Given the description of an element on the screen output the (x, y) to click on. 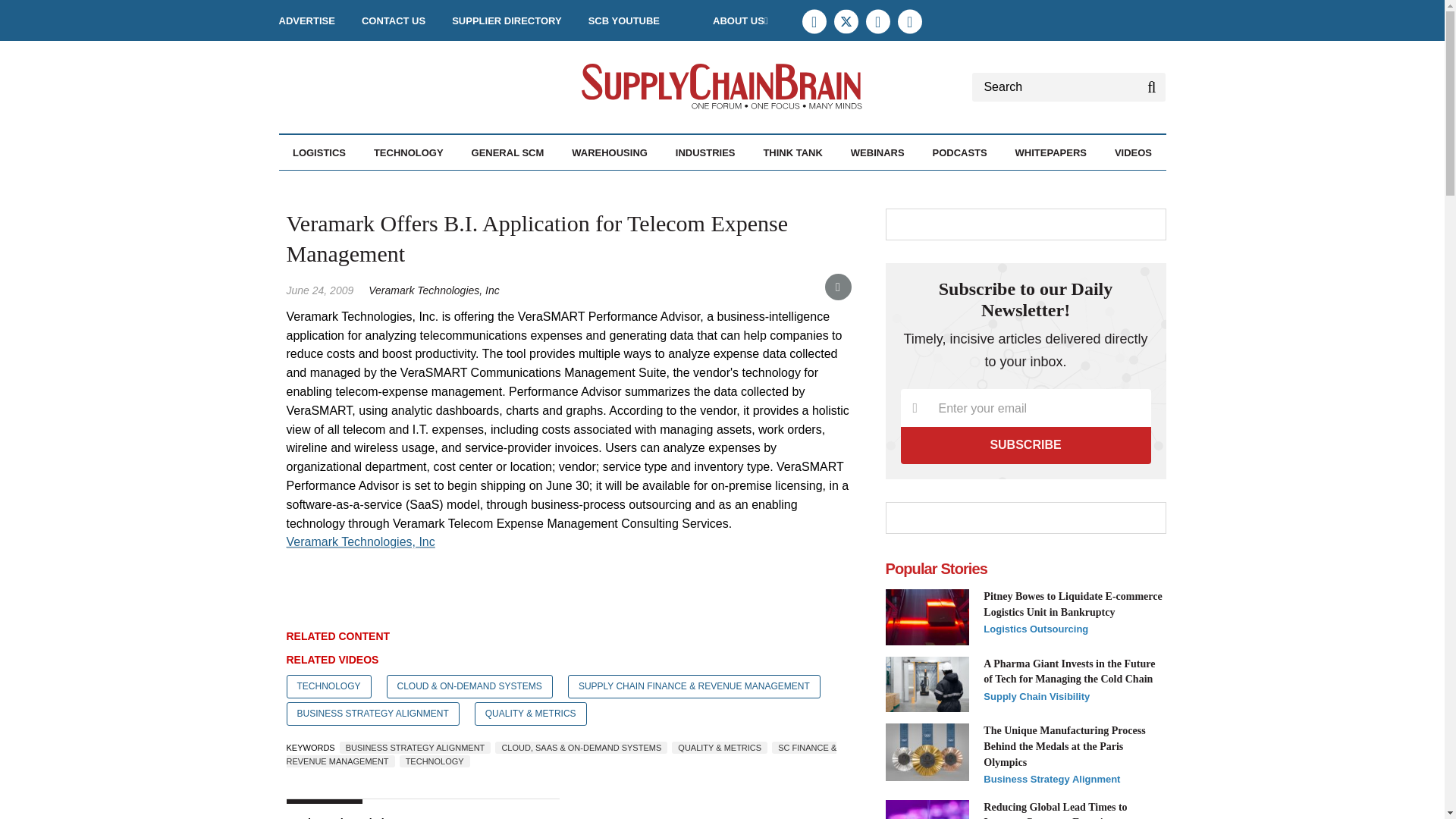
LOGISTICS (319, 152)
Subscribe (1026, 444)
Air Cargo (368, 184)
Facility Location Planning (381, 193)
Last Mile Delivery (401, 184)
Logistics Outsourcing (404, 184)
SCB YOUTUBE (623, 20)
Artificial Intelligence (456, 184)
PITNEY BOWES PACKAGE PARCEL BLOOMBERG.jpg (927, 616)
